Given the description of an element on the screen output the (x, y) to click on. 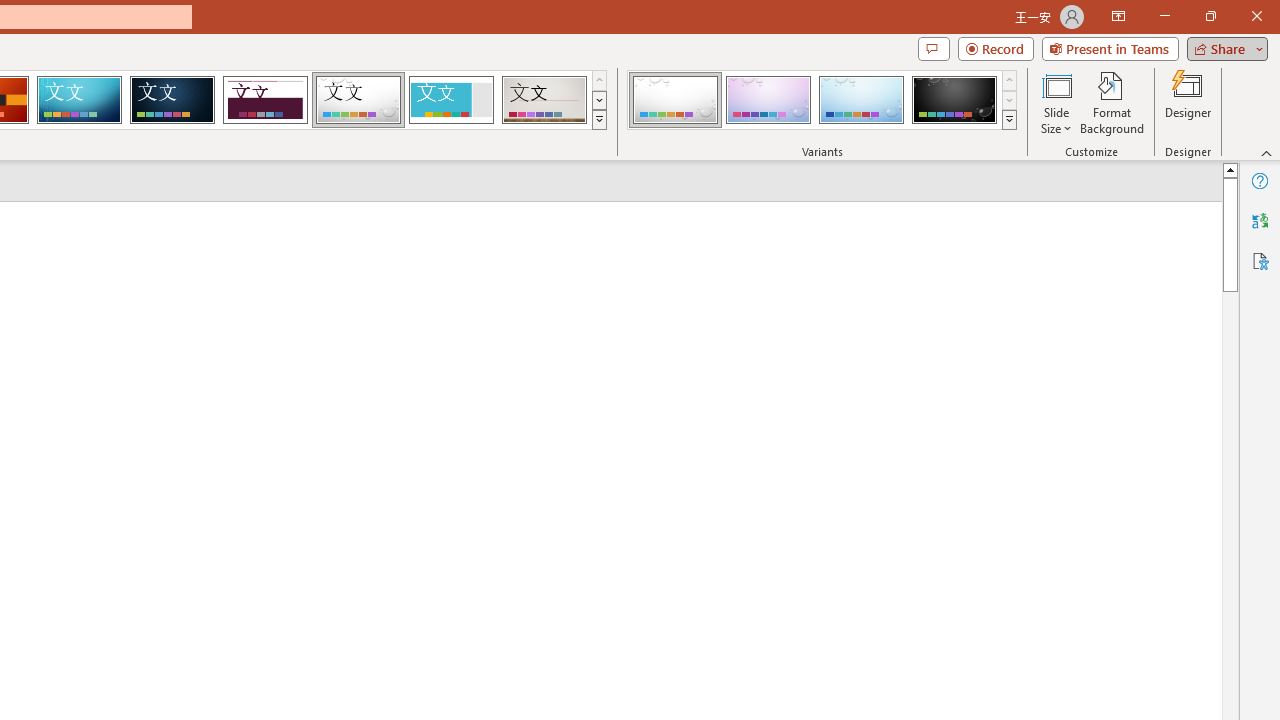
Frame (450, 100)
Damask (171, 100)
Droplet Variant 1 (674, 100)
Circuit (79, 100)
Droplet Variant 3 (861, 100)
Format Background (1111, 102)
Droplet Variant 2 (768, 100)
